Given the description of an element on the screen output the (x, y) to click on. 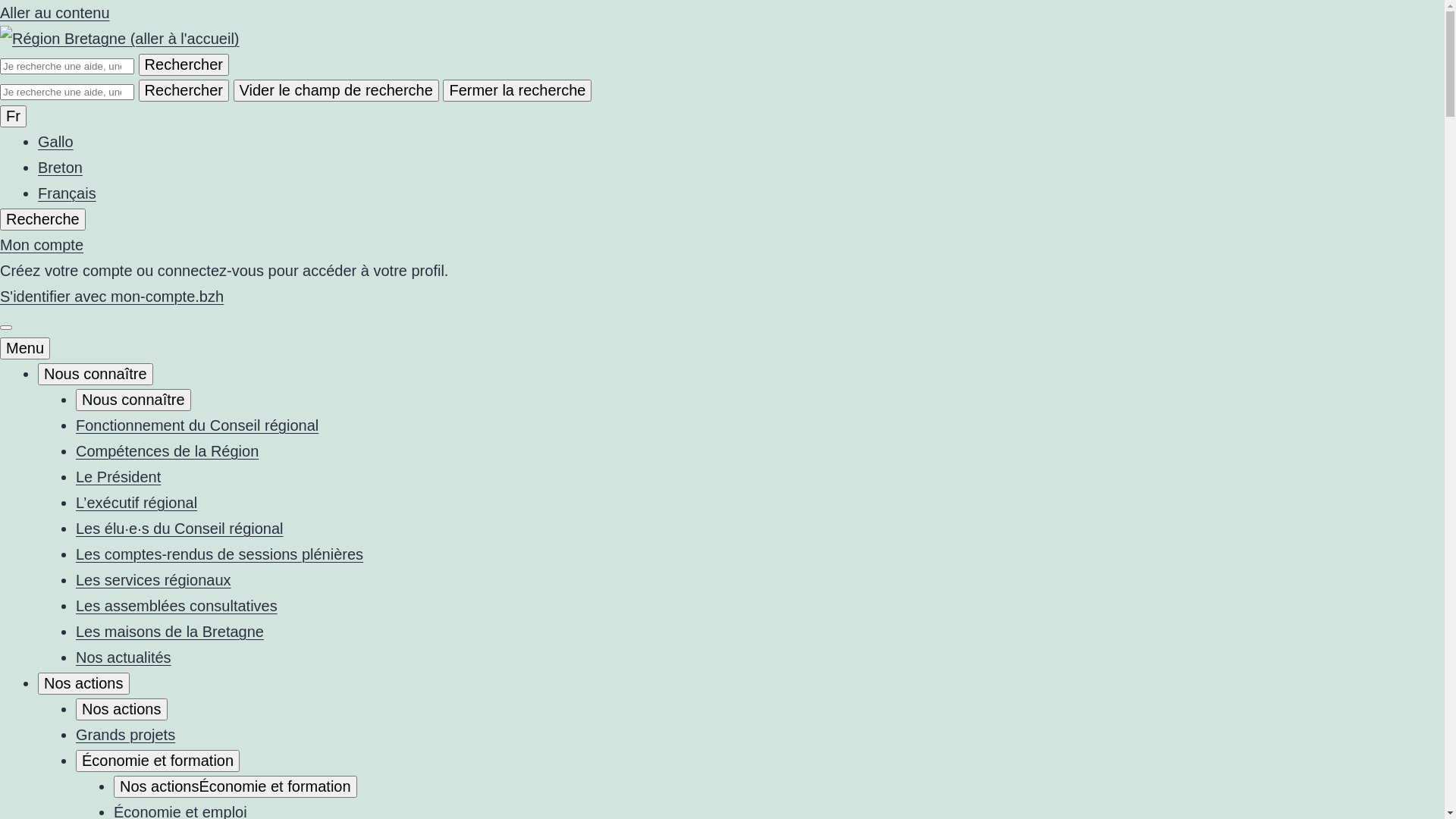
Nos actions Element type: text (121, 709)
Mon compte Element type: text (41, 244)
Vider le champ de recherche Element type: text (336, 90)
Menu Element type: text (25, 348)
Gallo Element type: text (55, 141)
Aller au contenu Element type: text (54, 12)
Fermer Element type: hover (6, 327)
Rechercher Element type: text (183, 64)
Rechercher Element type: text (183, 90)
Recherche Element type: text (42, 219)
Grands projets Element type: text (125, 734)
Nos actions Element type: text (83, 683)
Fermer la recherche Element type: text (516, 90)
Fr Element type: text (13, 116)
Les maisons de la Bretagne Element type: text (169, 631)
S'identifier avec mon-compte.bzh Element type: text (111, 296)
Breton Element type: text (59, 167)
